Given the description of an element on the screen output the (x, y) to click on. 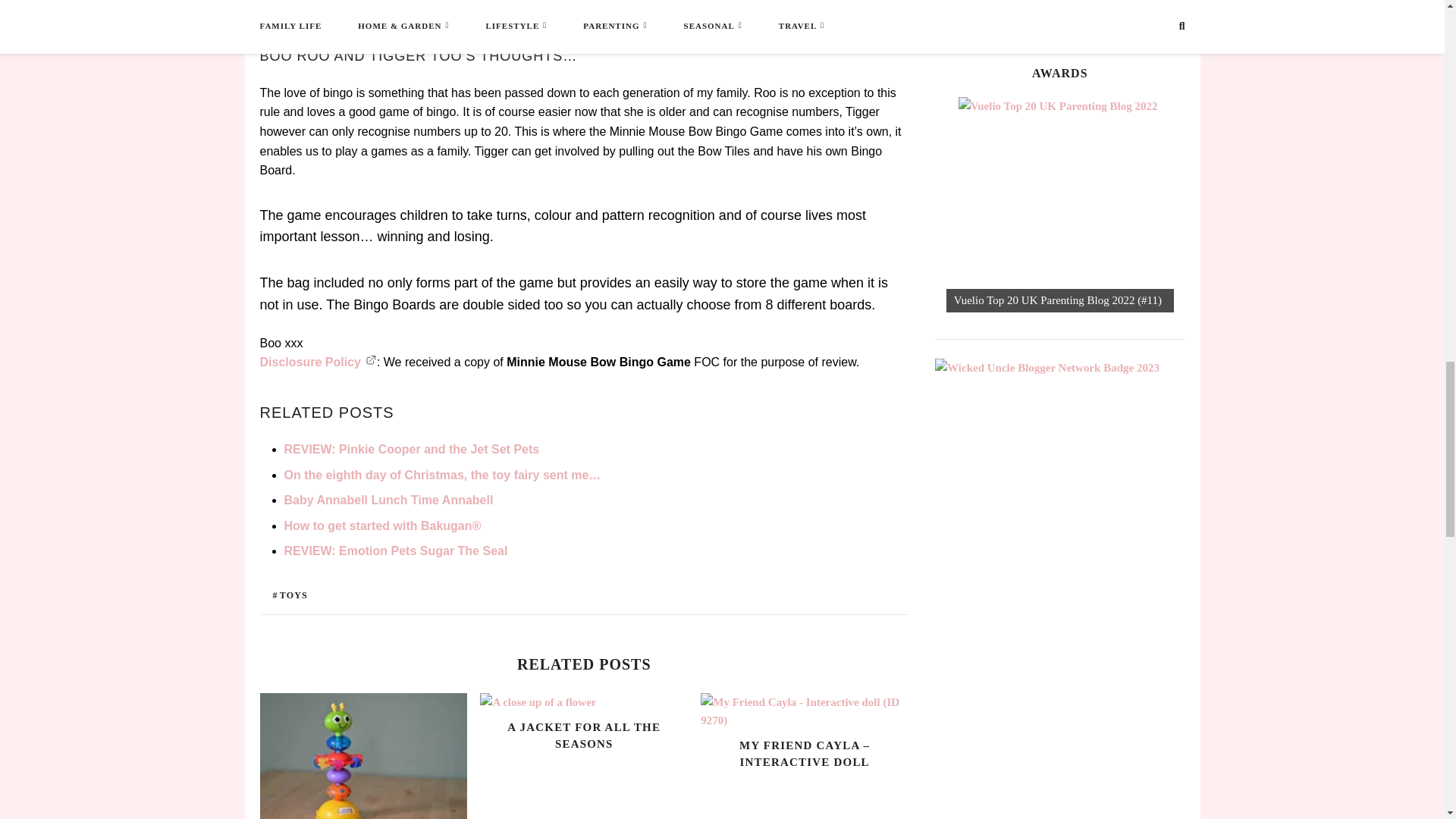
Minnie Mouse Bow Bingo Game (501, 12)
Link goes to external site. (371, 361)
Vuelio Top 20 UK Parenting Blog 2022 (1065, 204)
